Given the description of an element on the screen output the (x, y) to click on. 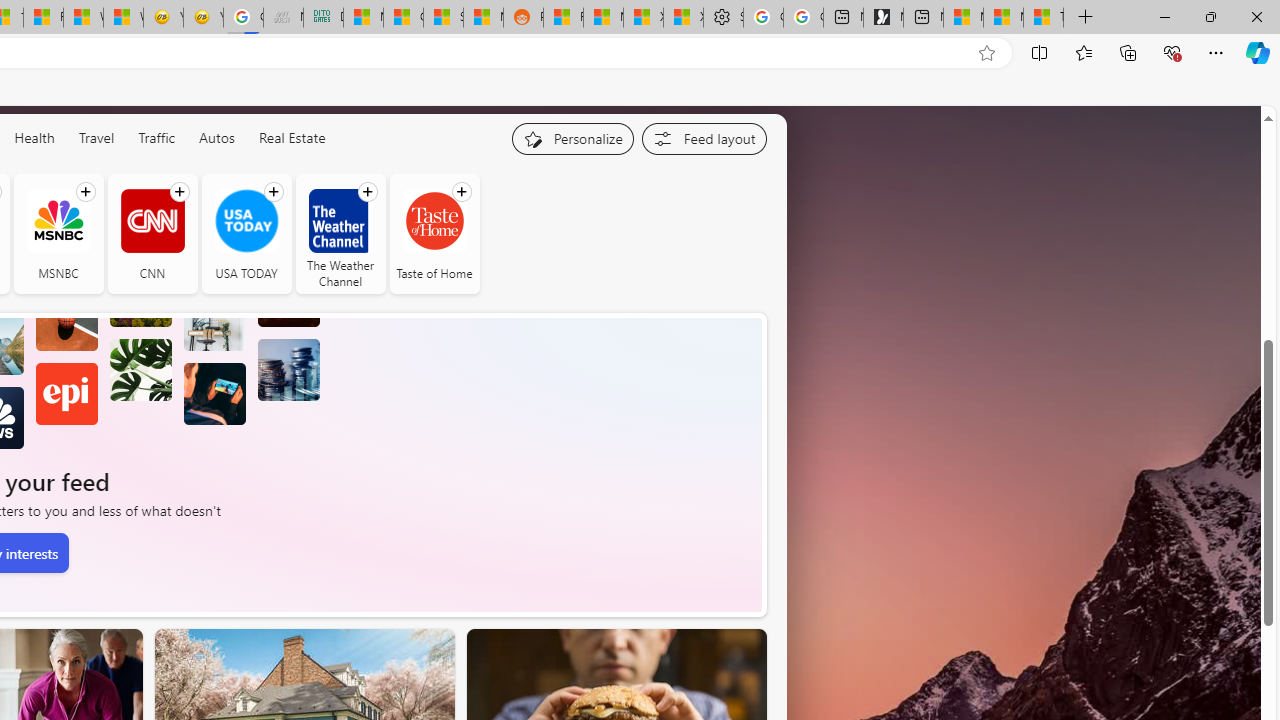
CNN (152, 233)
Autos (216, 137)
Follow channel (461, 192)
MSNBC (57, 220)
CNN (152, 220)
